Given the description of an element on the screen output the (x, y) to click on. 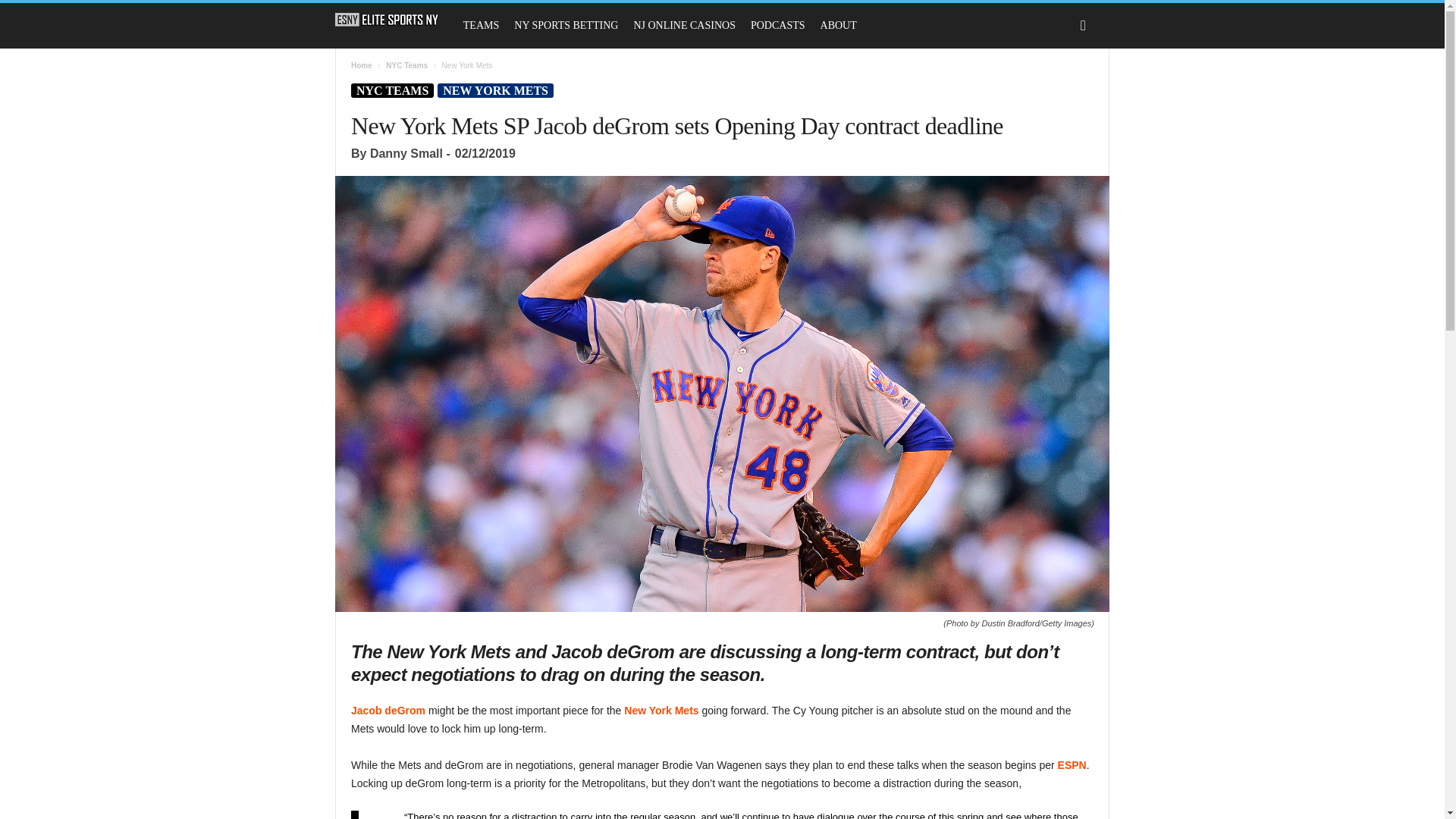
TEAMS (480, 25)
Elite Sports NY (394, 19)
Elite Sports NY (386, 19)
View all posts in NYC Teams (406, 65)
